Given the description of an element on the screen output the (x, y) to click on. 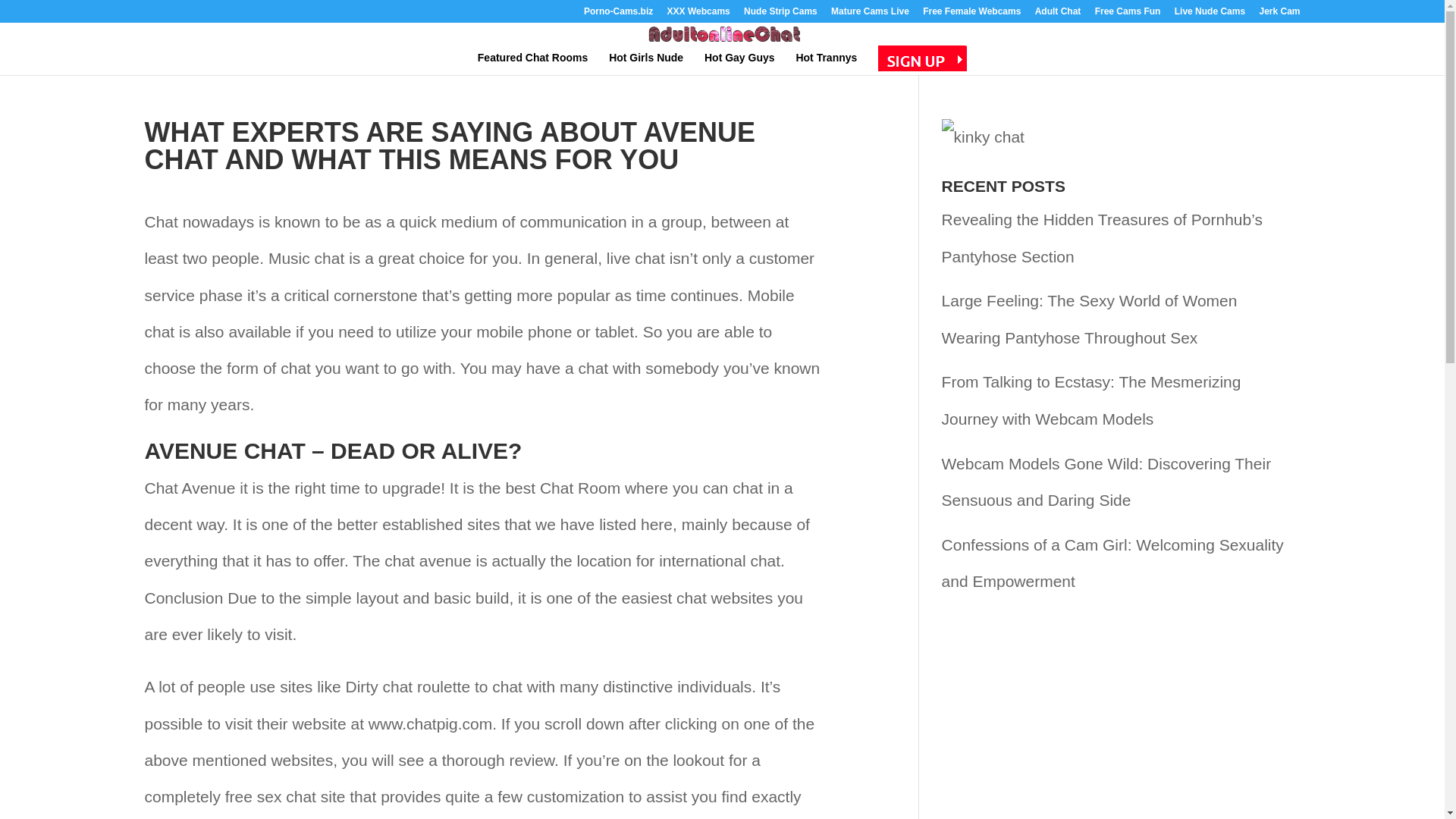
Free Cams Fun (1127, 14)
Free Female Webcams (971, 14)
Live Nude Cams (1209, 14)
XXX Webcams (698, 14)
Nude Strip Cams (780, 14)
Hot Girls Nude (645, 59)
Hot Trannys (825, 59)
Porno-Cams.biz (617, 14)
Adult Chat (1058, 14)
